Given the description of an element on the screen output the (x, y) to click on. 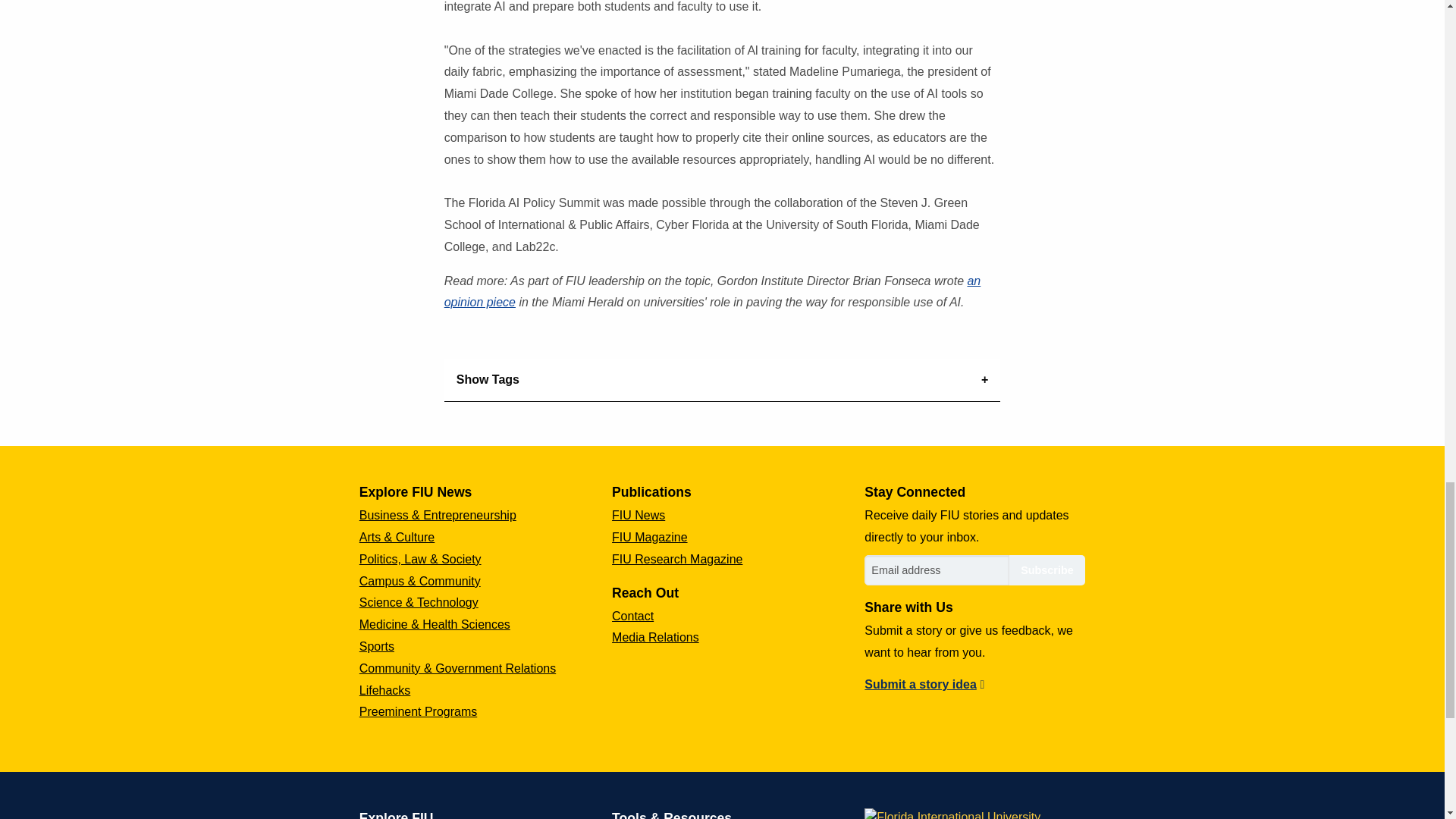
Preeminent Programs (418, 711)
Lifehacks (384, 689)
Sports (376, 645)
Show Tags (722, 380)
an opinion piece (712, 291)
Subscribe (1046, 570)
FIU News (638, 514)
